Given the description of an element on the screen output the (x, y) to click on. 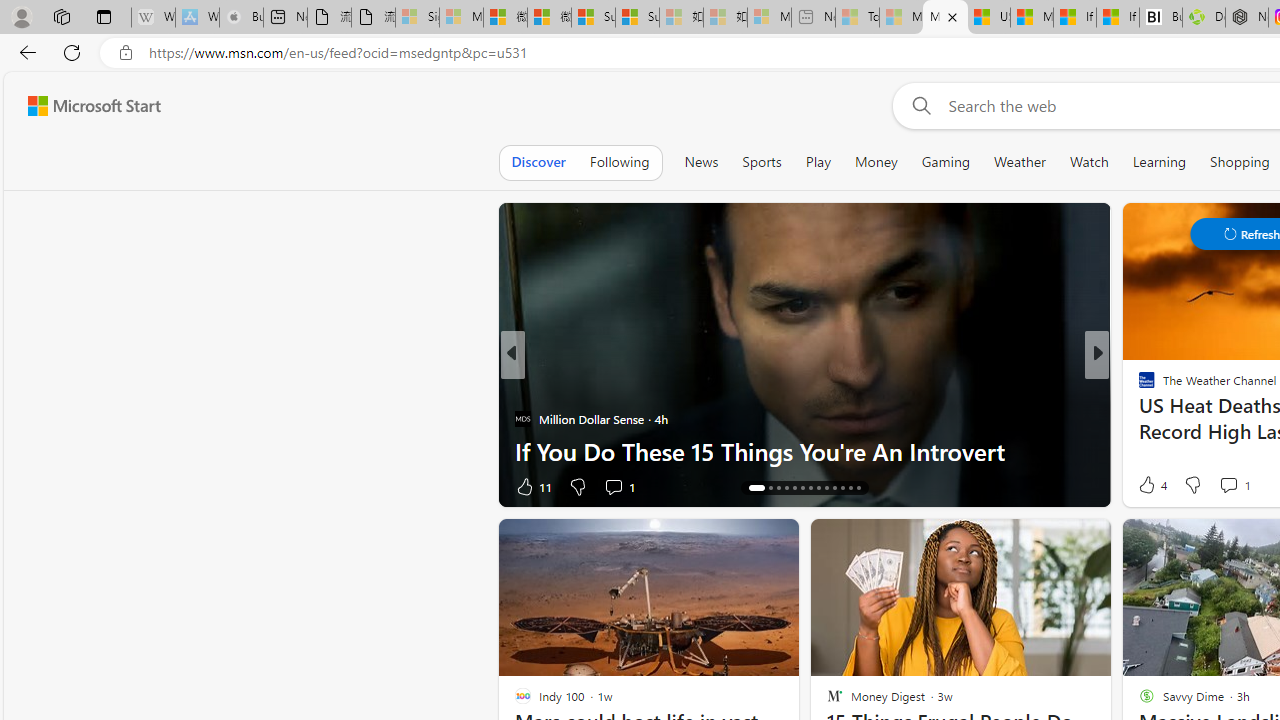
20 Like (1149, 486)
12 Like (1149, 486)
AutomationID: tab-20 (810, 487)
AutomationID: tab-23 (833, 487)
View comments 1k Comment (1228, 485)
View comments 339 Comment (1247, 486)
